Given the description of an element on the screen output the (x, y) to click on. 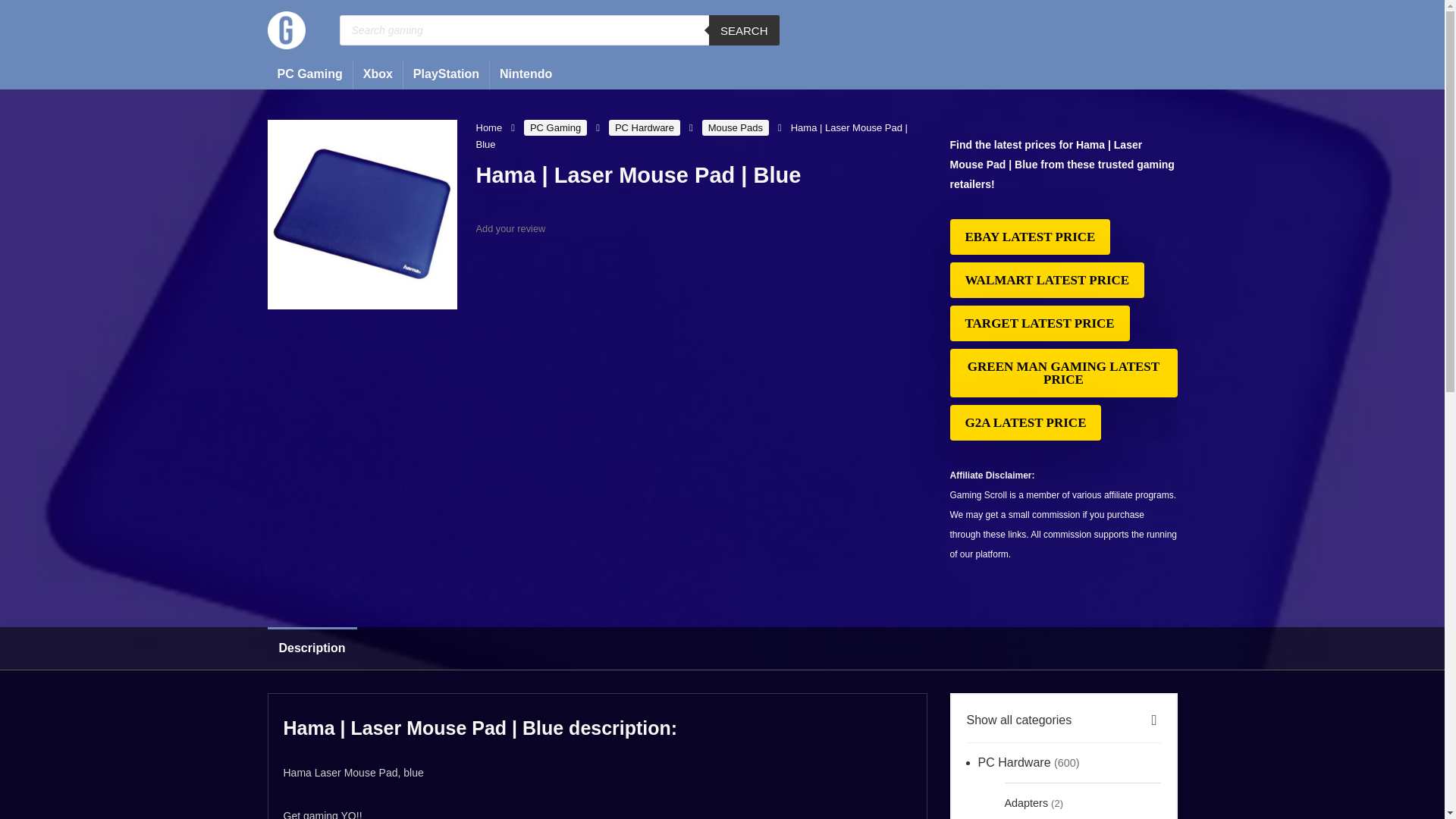
Adapters (1026, 800)
PlayStation (446, 74)
G2A LATEST PRICE (1024, 422)
Add your review (511, 228)
PC Hardware (643, 127)
Home (489, 127)
TARGET LATEST PRICE (1039, 323)
Nintendo (525, 74)
PC Gaming (555, 127)
GREEN MAN GAMING LATEST PRICE (1062, 372)
